Given the description of an element on the screen output the (x, y) to click on. 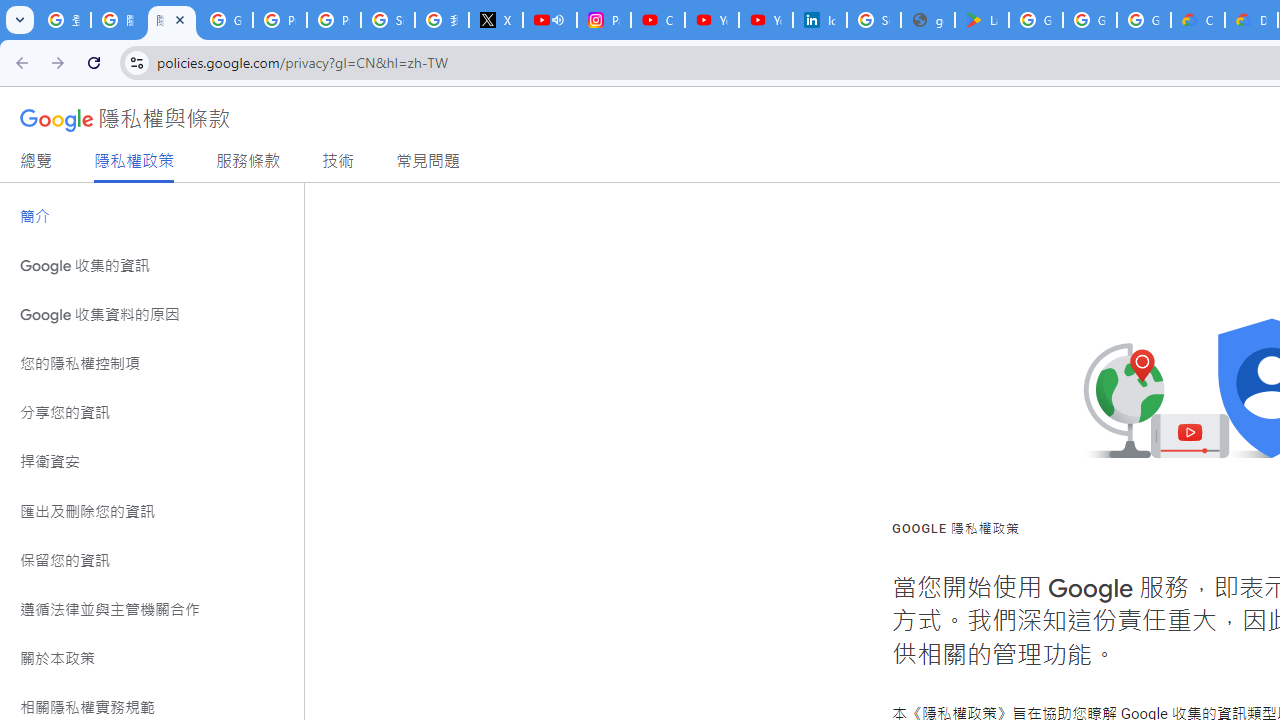
Google Workspace - Specific Terms (1089, 20)
Sign in - Google Accounts (874, 20)
Google Workspace - Specific Terms (1144, 20)
X (495, 20)
